Given the description of an element on the screen output the (x, y) to click on. 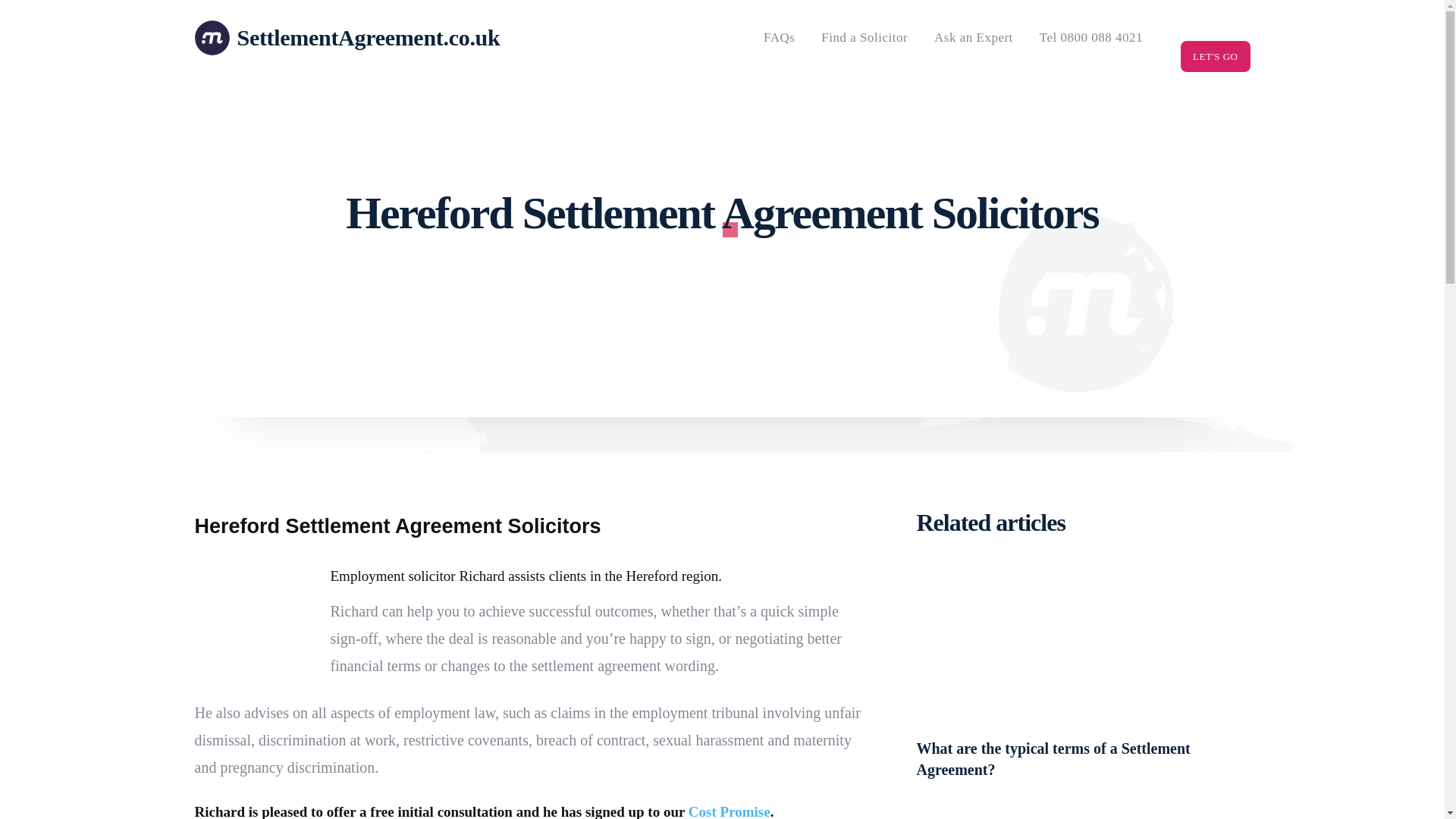
SettlementAgreement.co.uk (311, 37)
What are the typical terms of a Settlement Agreement? (1082, 644)
LET'S GO (1214, 56)
Ask an Expert (973, 38)
What are the typical terms of a Settlement Agreement? (1052, 759)
Find a Solicitor (864, 38)
Tel 0800 088 4021 (1091, 38)
Let's go (1214, 56)
